Given the description of an element on the screen output the (x, y) to click on. 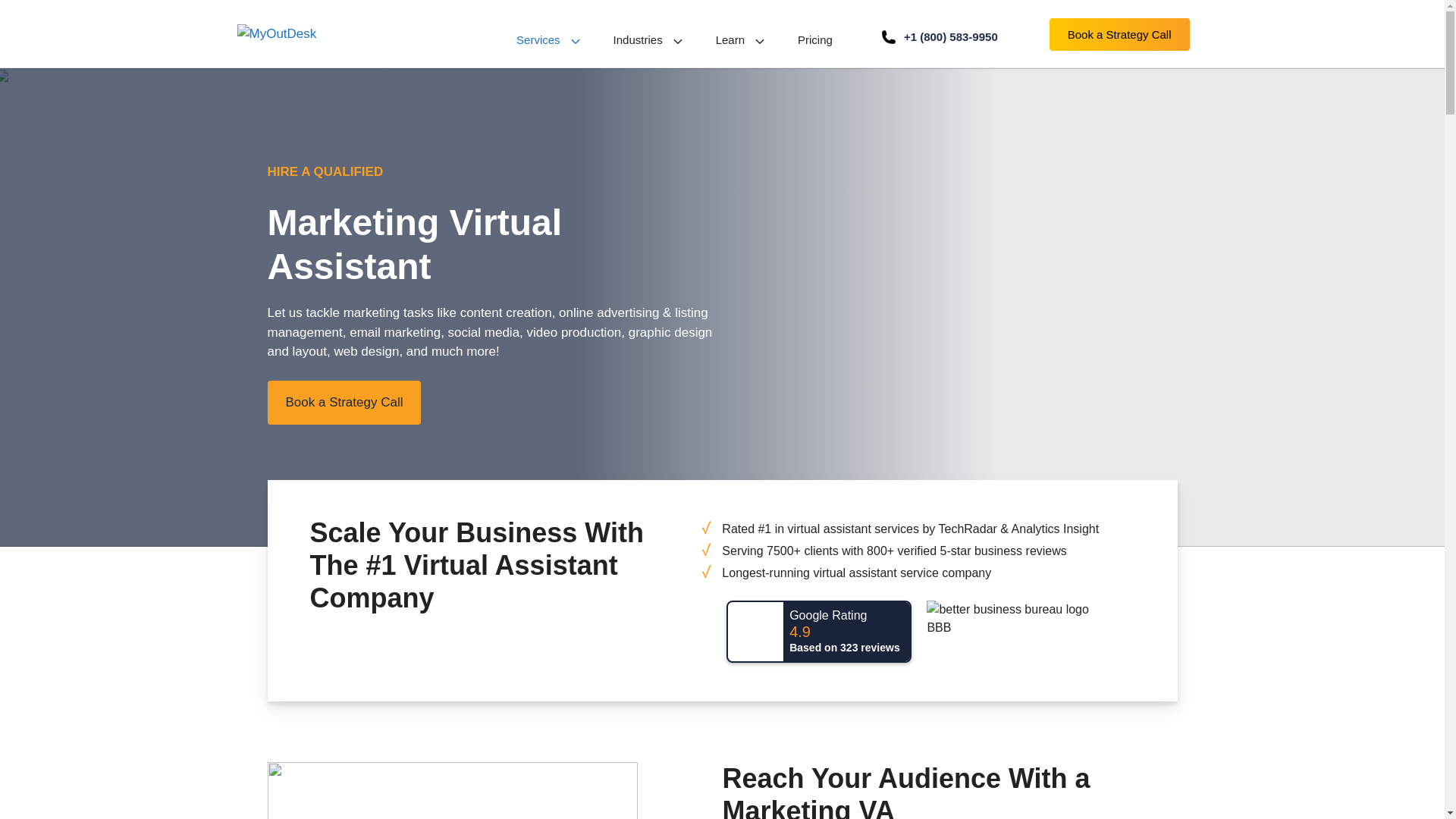
Learn (741, 41)
Industries (649, 41)
better business bureau logo BBB (1019, 618)
Services (549, 41)
